Given the description of an element on the screen output the (x, y) to click on. 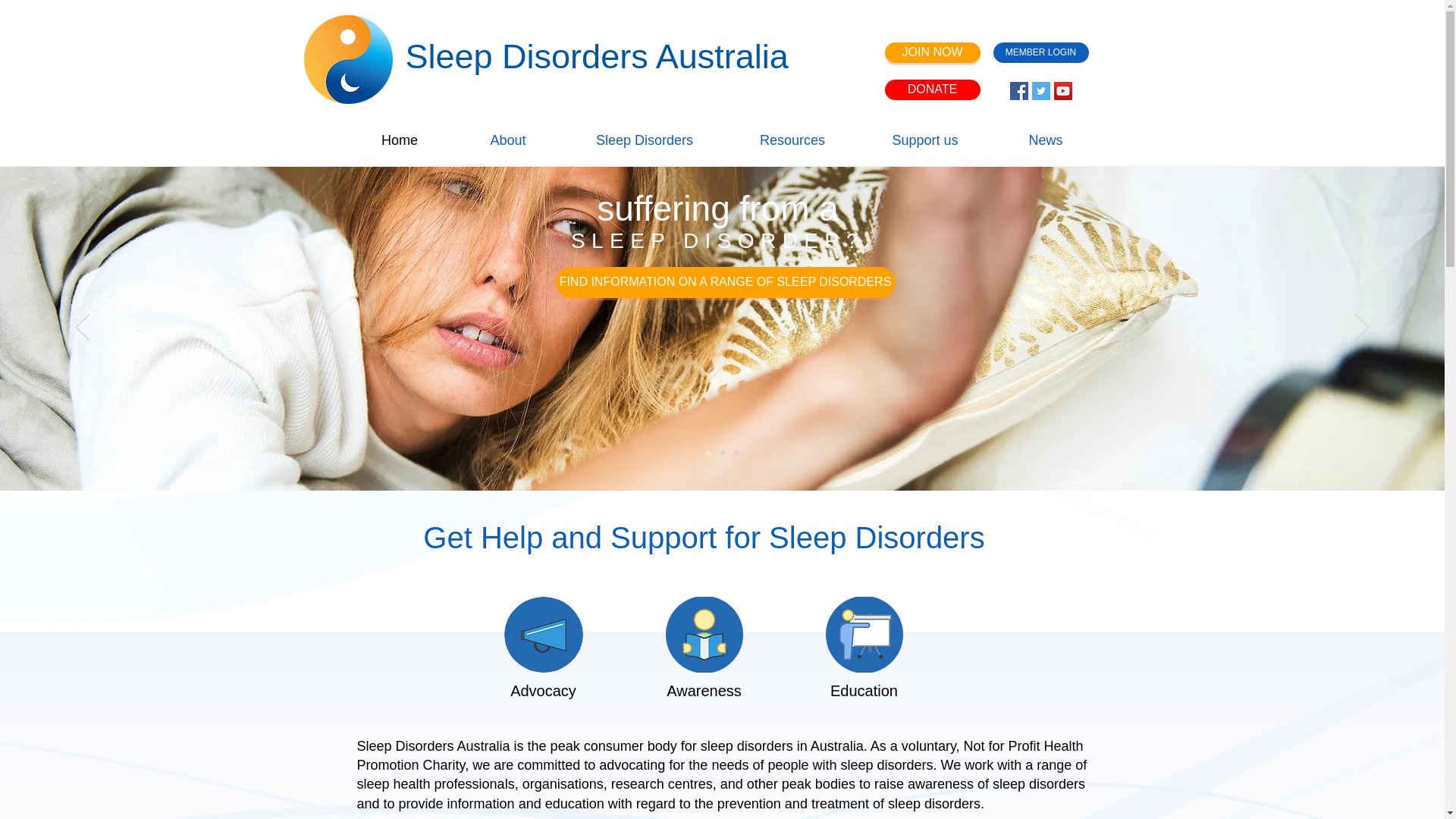
JOIN NOW (931, 52)
Support us (925, 139)
Home (400, 139)
MEMBER LOGIN (1040, 52)
FIND INFORMATION ON A RANGE OF SLEEP DISORDERS (724, 282)
News (1045, 139)
DONATE (931, 89)
About (507, 139)
